Given the description of an element on the screen output the (x, y) to click on. 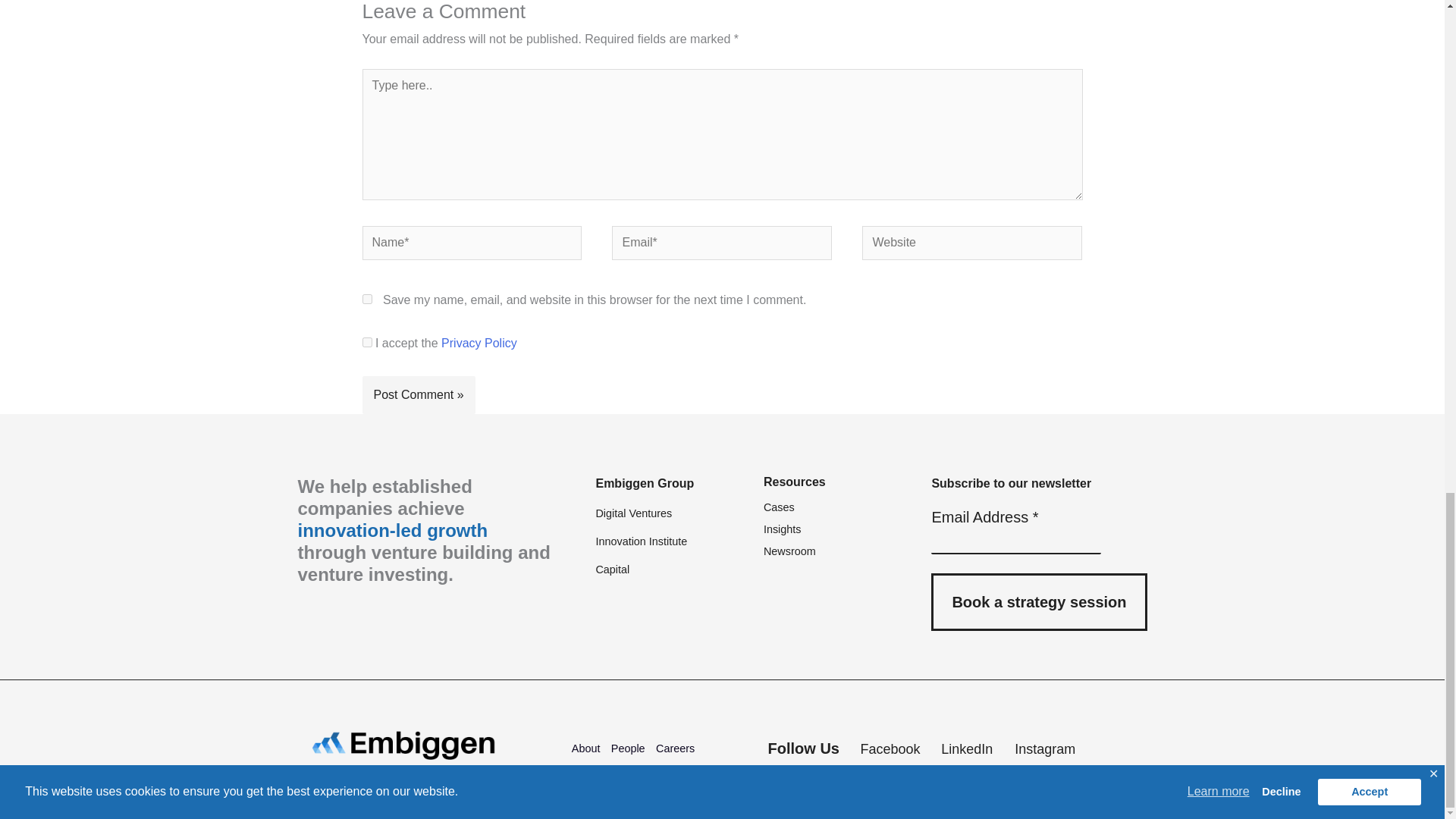
yes (367, 298)
1 (367, 342)
